Given the description of an element on the screen output the (x, y) to click on. 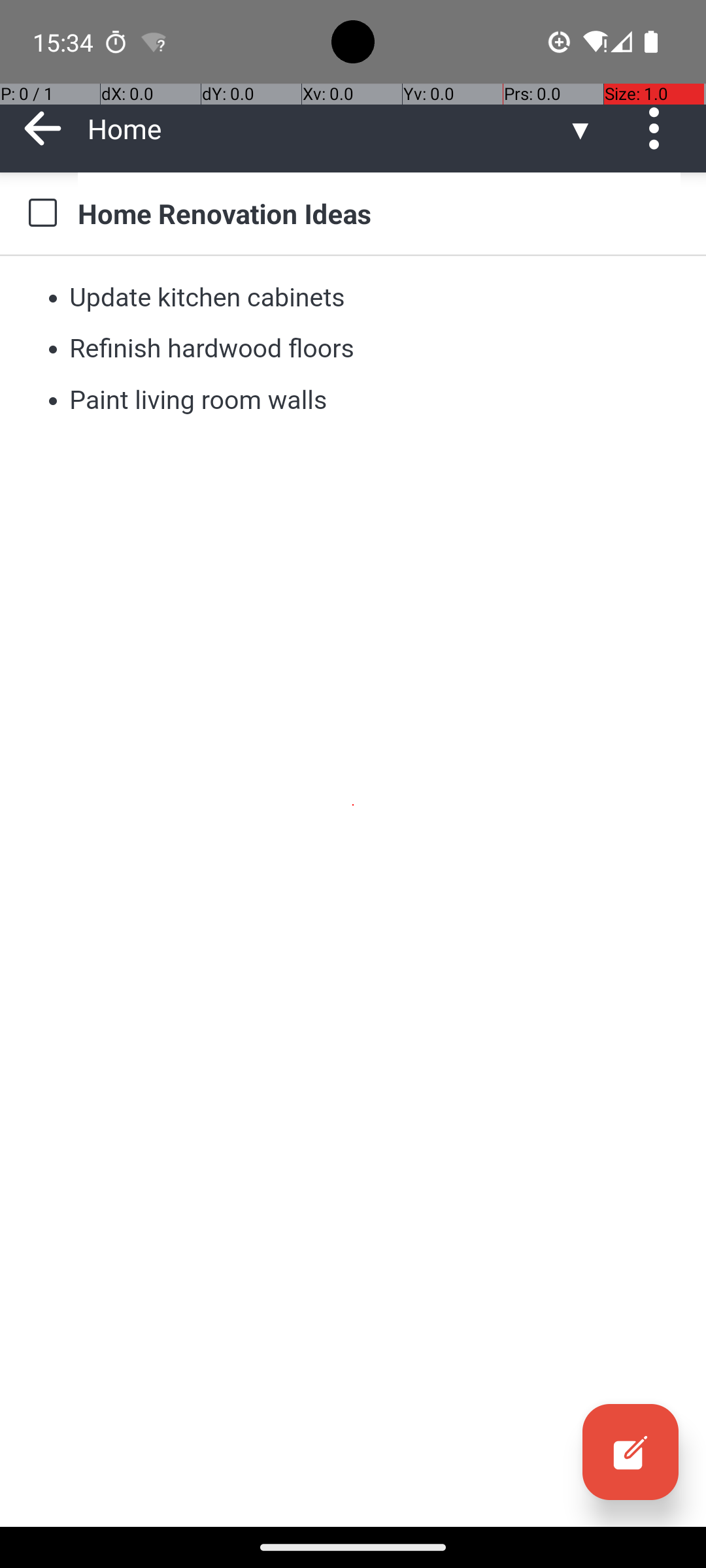
Home Renovation Ideas Element type: android.widget.EditText (378, 213)
Update kitchen cabinets Element type: android.widget.TextView (207, 296)
Refinish hardwood floors Element type: android.widget.TextView (211, 348)
Paint living room walls Element type: android.widget.TextView (197, 399)
